Given the description of an element on the screen output the (x, y) to click on. 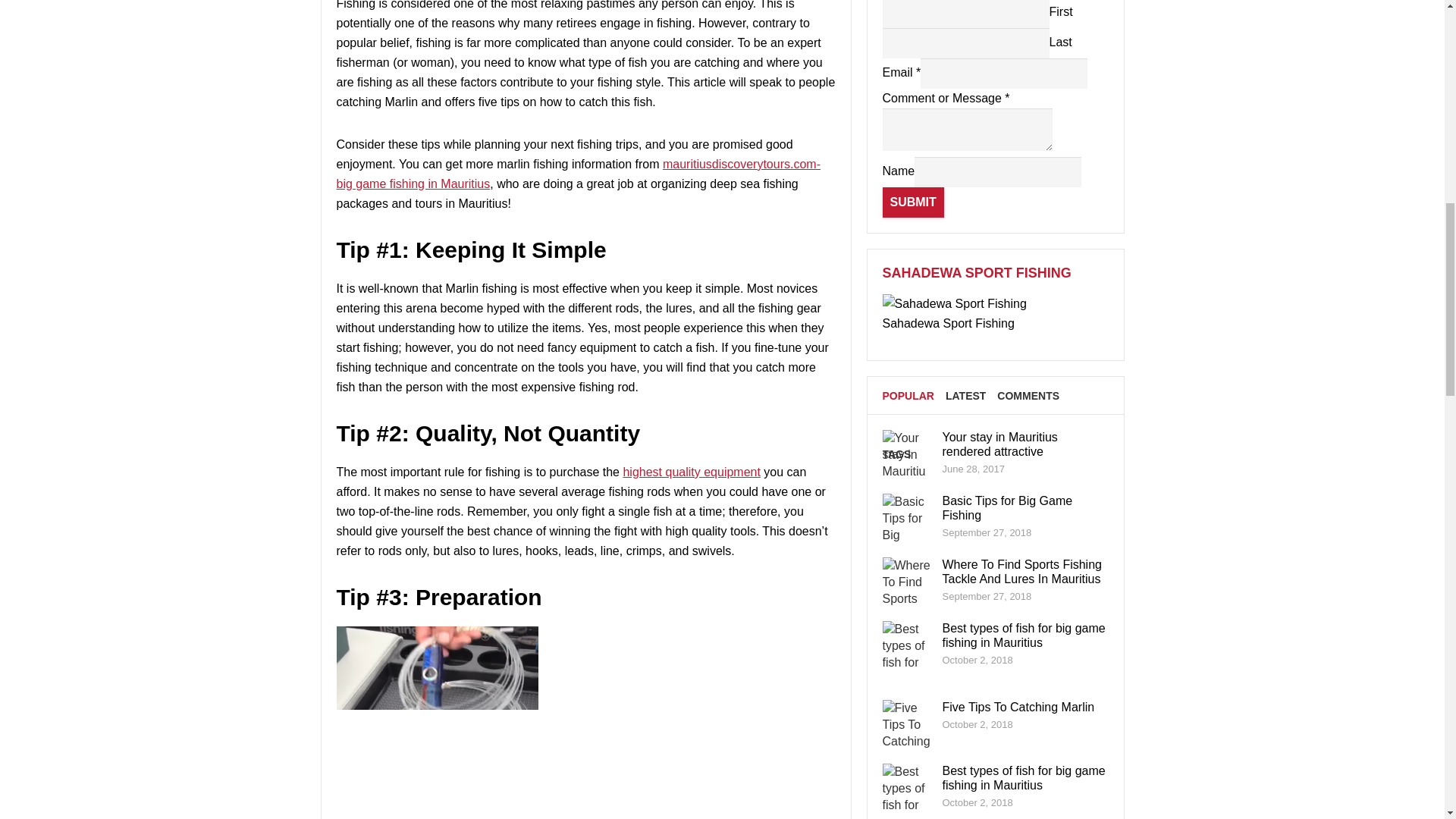
Popular (908, 395)
Comments (1028, 395)
mauritiusdiscoverytours.com- big game fishing in Mauritius (578, 174)
highest quality equipment (691, 472)
Latest (964, 395)
